Given the description of an element on the screen output the (x, y) to click on. 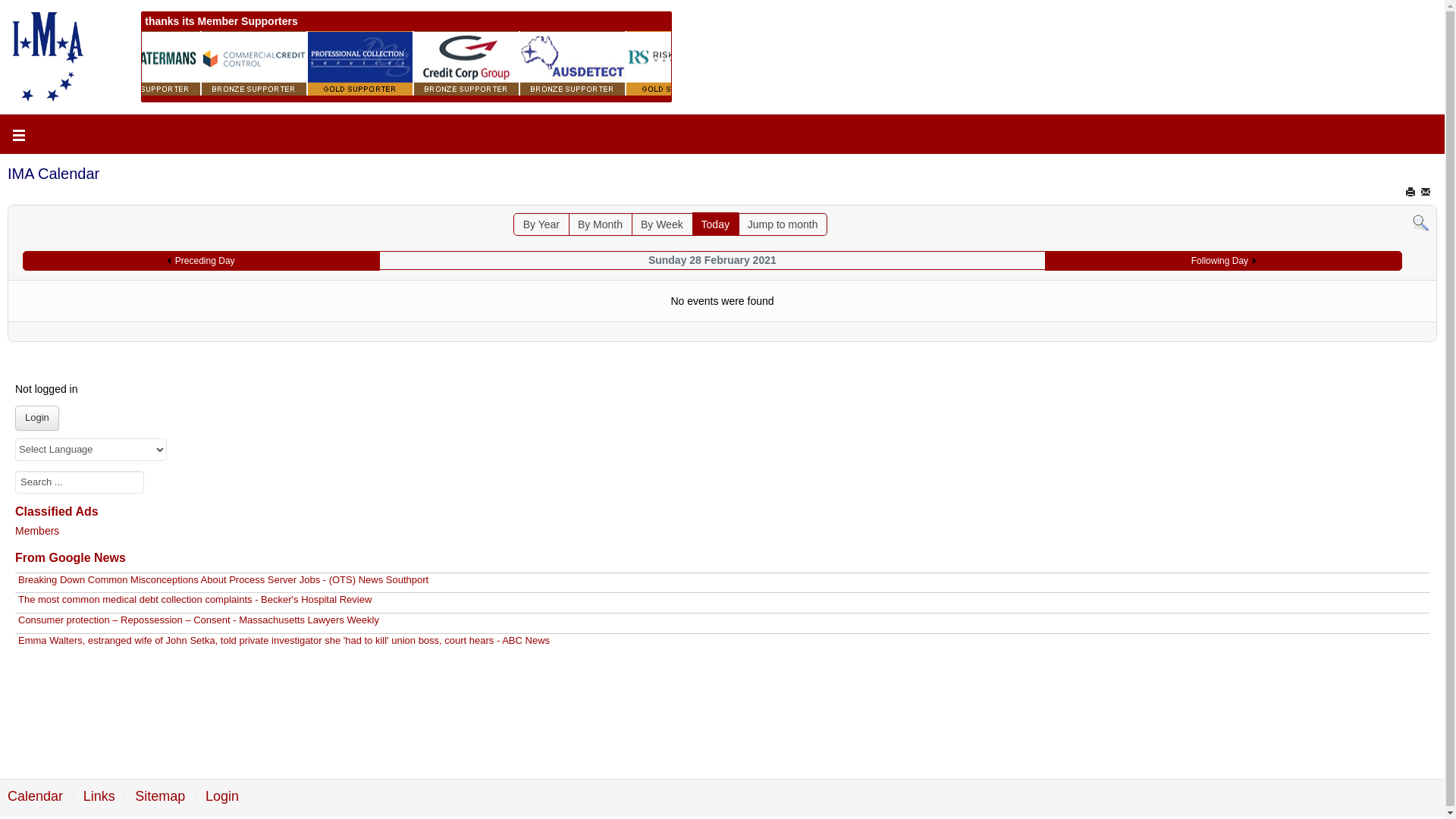
Calendar Element type: text (34, 795)
Jump to month Element type: text (782, 223)
Today Element type: text (715, 223)
Print Element type: hover (1411, 191)
Search Element type: hover (1420, 222)
By Month Element type: text (599, 223)
Sitemap Element type: text (159, 795)
Following Day Element type: text (1223, 260)
Preceding Day Element type: text (201, 260)
By Year Element type: text (541, 223)
Members Element type: text (37, 530)
Links Element type: text (99, 795)
Login Element type: text (37, 417)
EMAIL Element type: hover (1426, 191)
Login Element type: text (221, 795)
By Week Element type: text (661, 223)
